Given the description of an element on the screen output the (x, y) to click on. 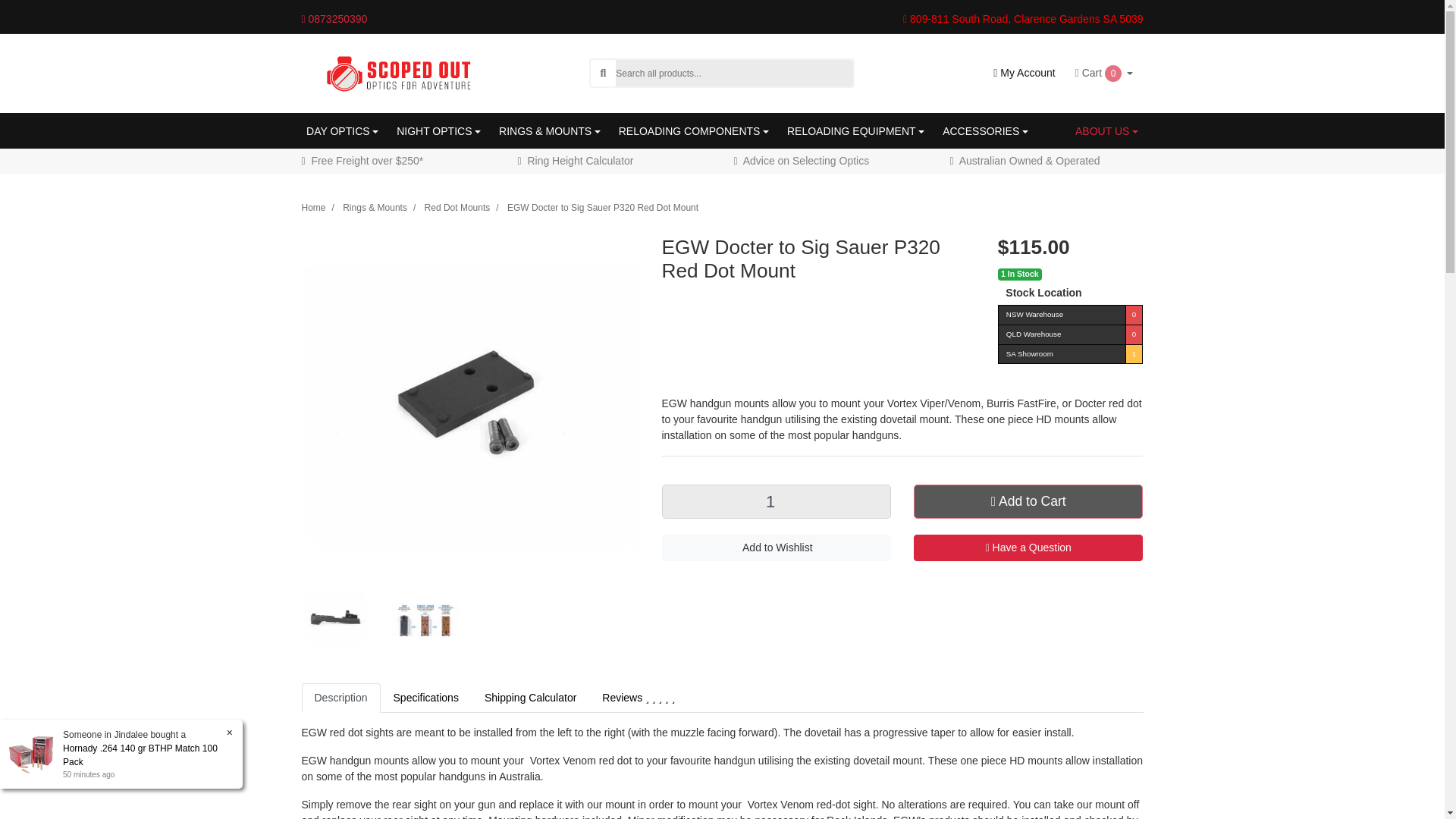
809-811 South Road, Clarence Gardens SA 5039 (1022, 19)
0873250390 (352, 18)
DAY OPTICS (342, 131)
My Account (1024, 72)
Add to Cart (1028, 500)
Search (602, 72)
Scoped Out (398, 72)
Cart 0 (1103, 72)
1 (775, 501)
